Given the description of an element on the screen output the (x, y) to click on. 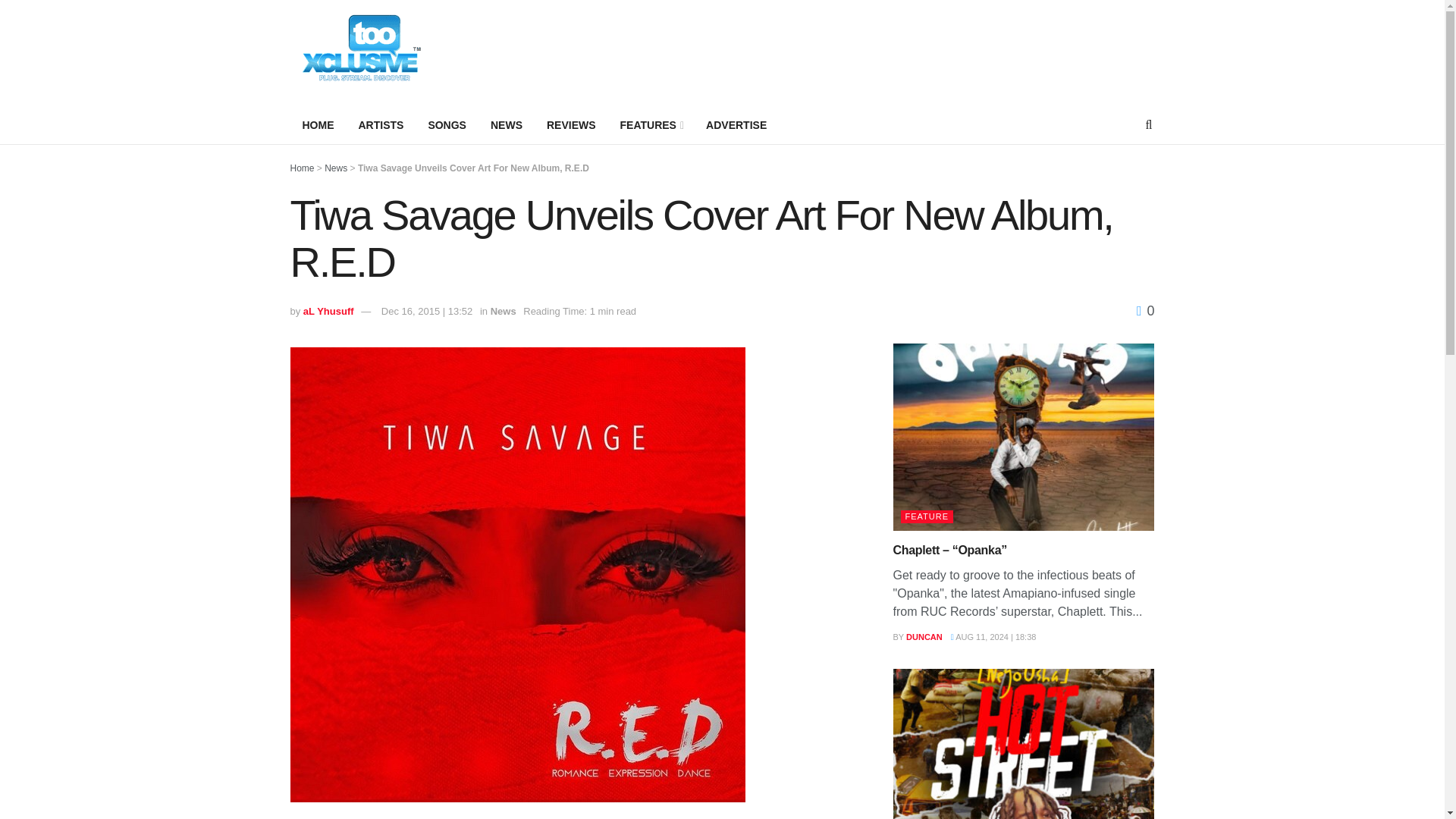
FEATURES (651, 125)
aL Yhusuff (327, 310)
News (503, 310)
0 (1145, 310)
News (335, 167)
ARTISTS (380, 125)
Home (301, 167)
Artists (380, 125)
ADVERTISE (736, 125)
HOME (317, 125)
